Given the description of an element on the screen output the (x, y) to click on. 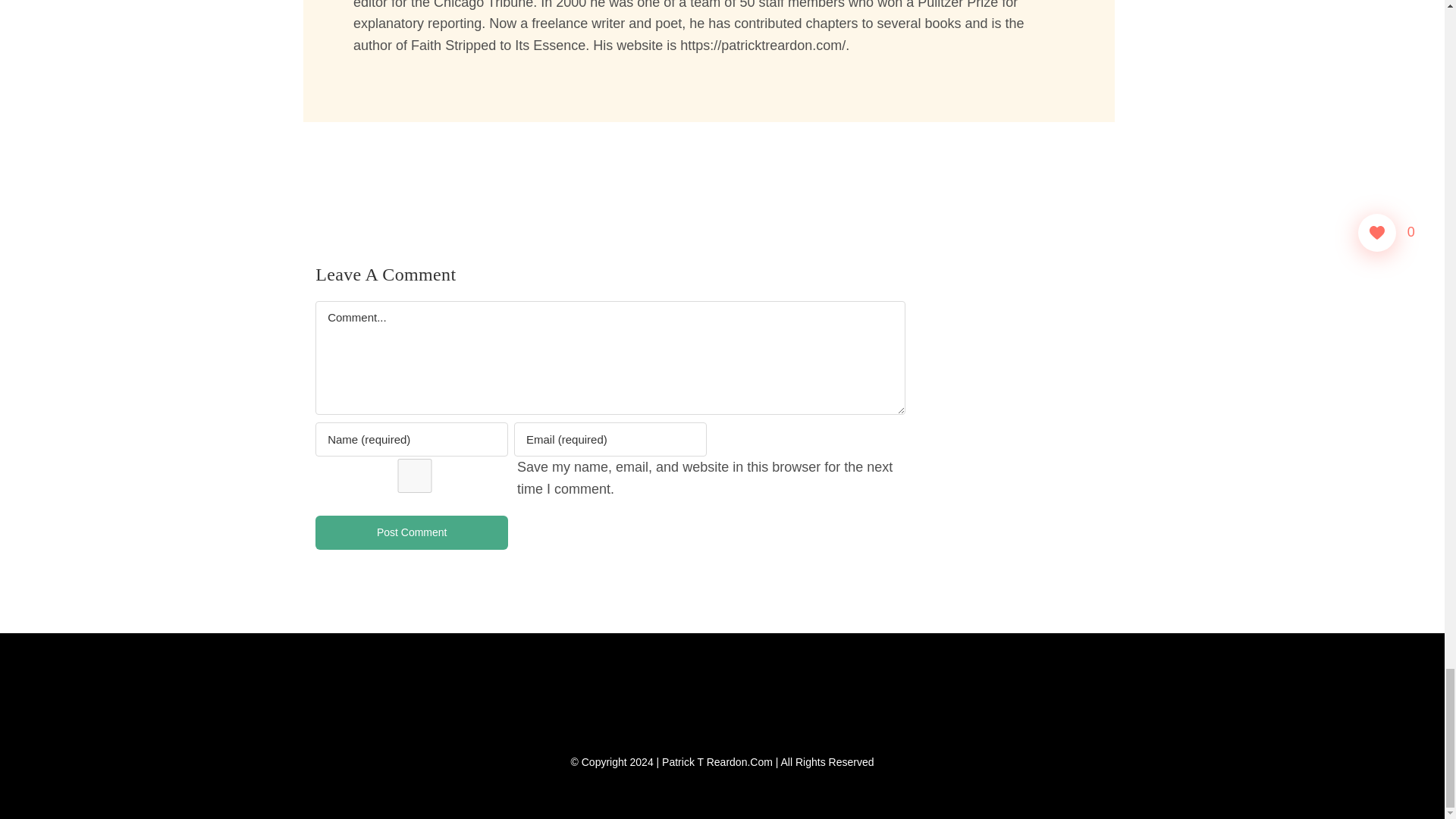
Post Comment (411, 532)
Post Comment (411, 532)
yes (414, 475)
